Given the description of an element on the screen output the (x, y) to click on. 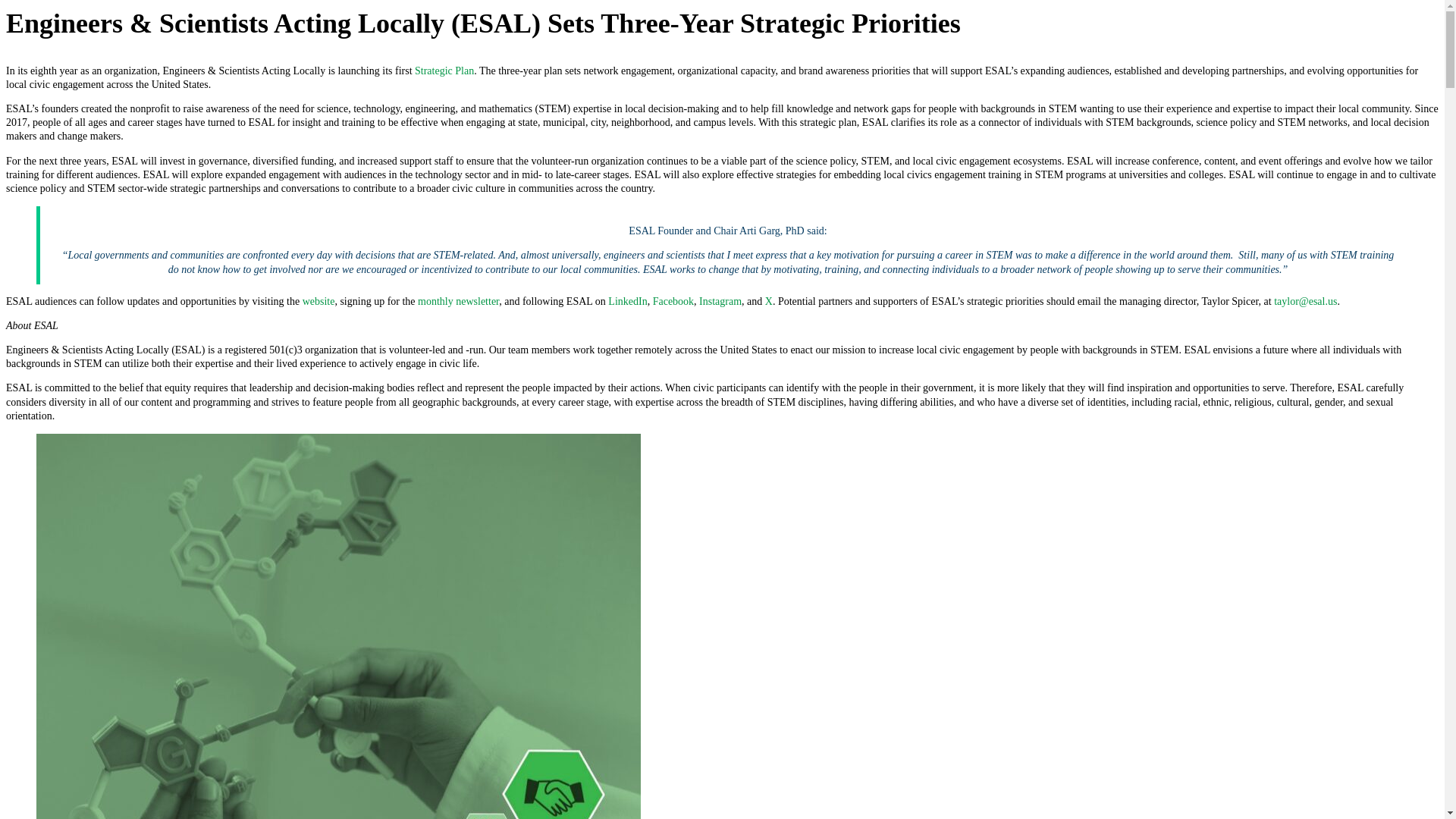
Facebook (673, 301)
Strategic Plan (444, 70)
LinkedIn (627, 301)
Instagram (719, 301)
monthly newsletter (458, 301)
website (318, 301)
